Given the description of an element on the screen output the (x, y) to click on. 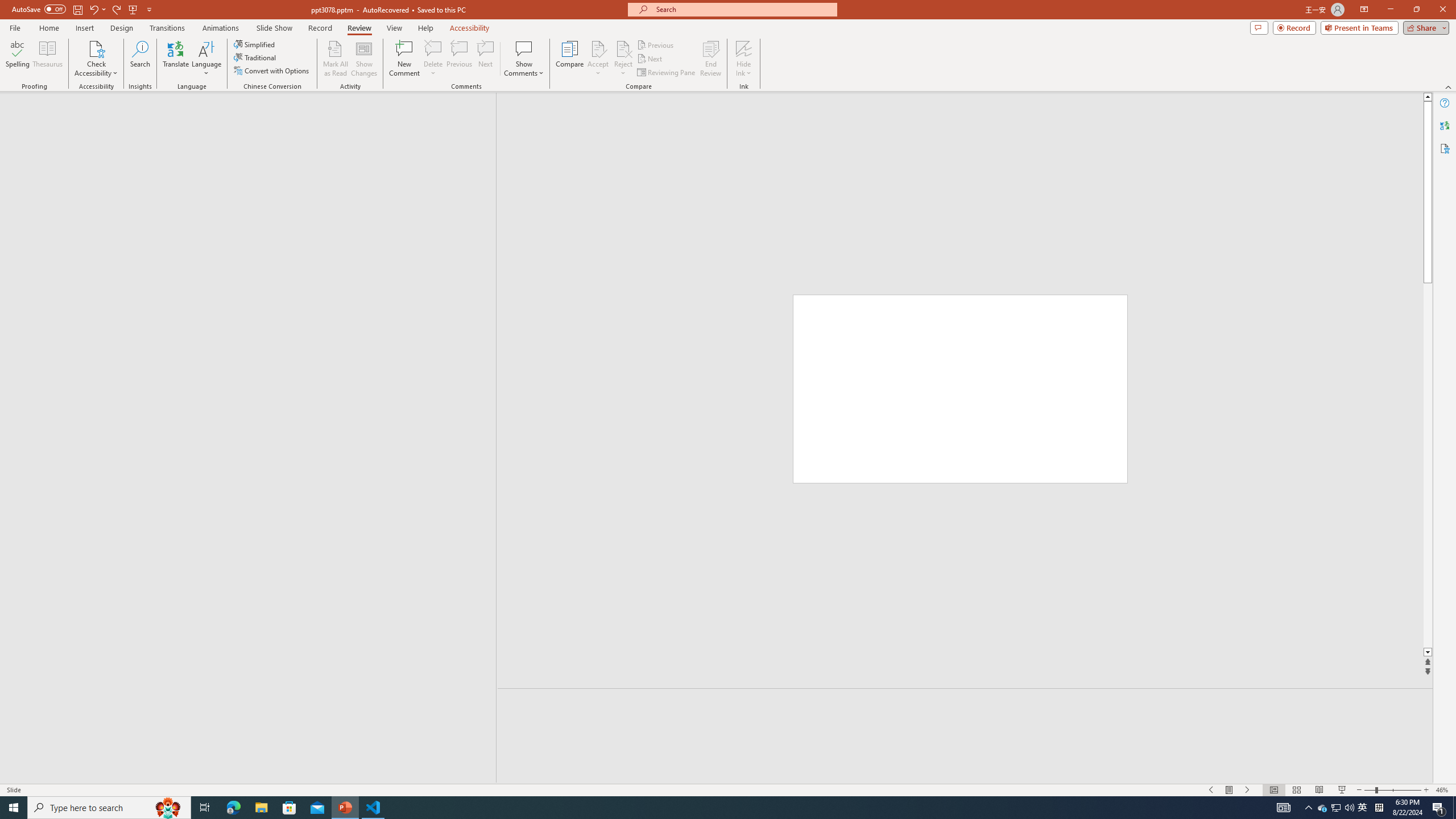
Language (206, 58)
Reviewing Pane (666, 72)
Slide Show Previous On (1211, 790)
